Given the description of an element on the screen output the (x, y) to click on. 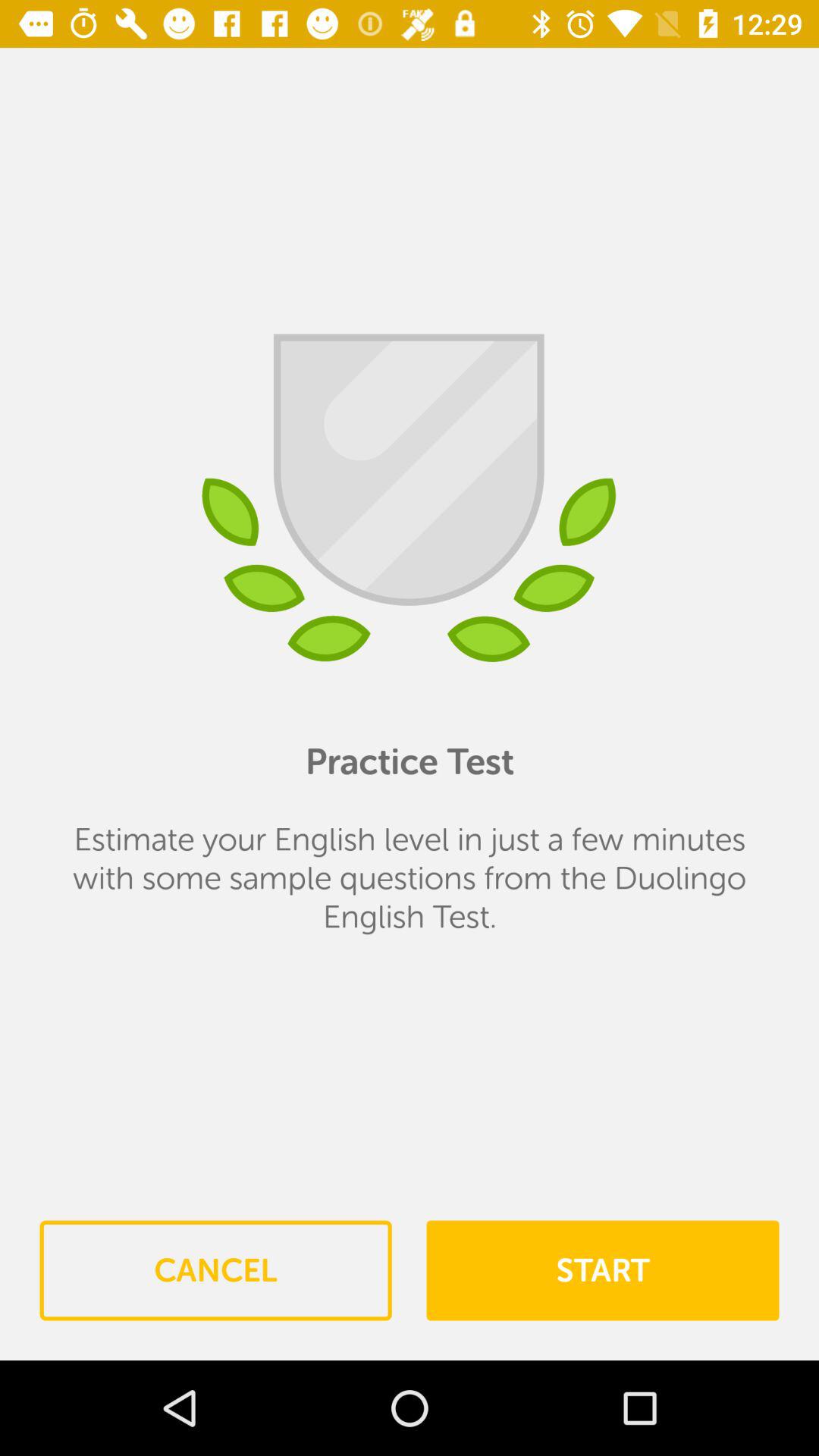
swipe until the start (602, 1270)
